Given the description of an element on the screen output the (x, y) to click on. 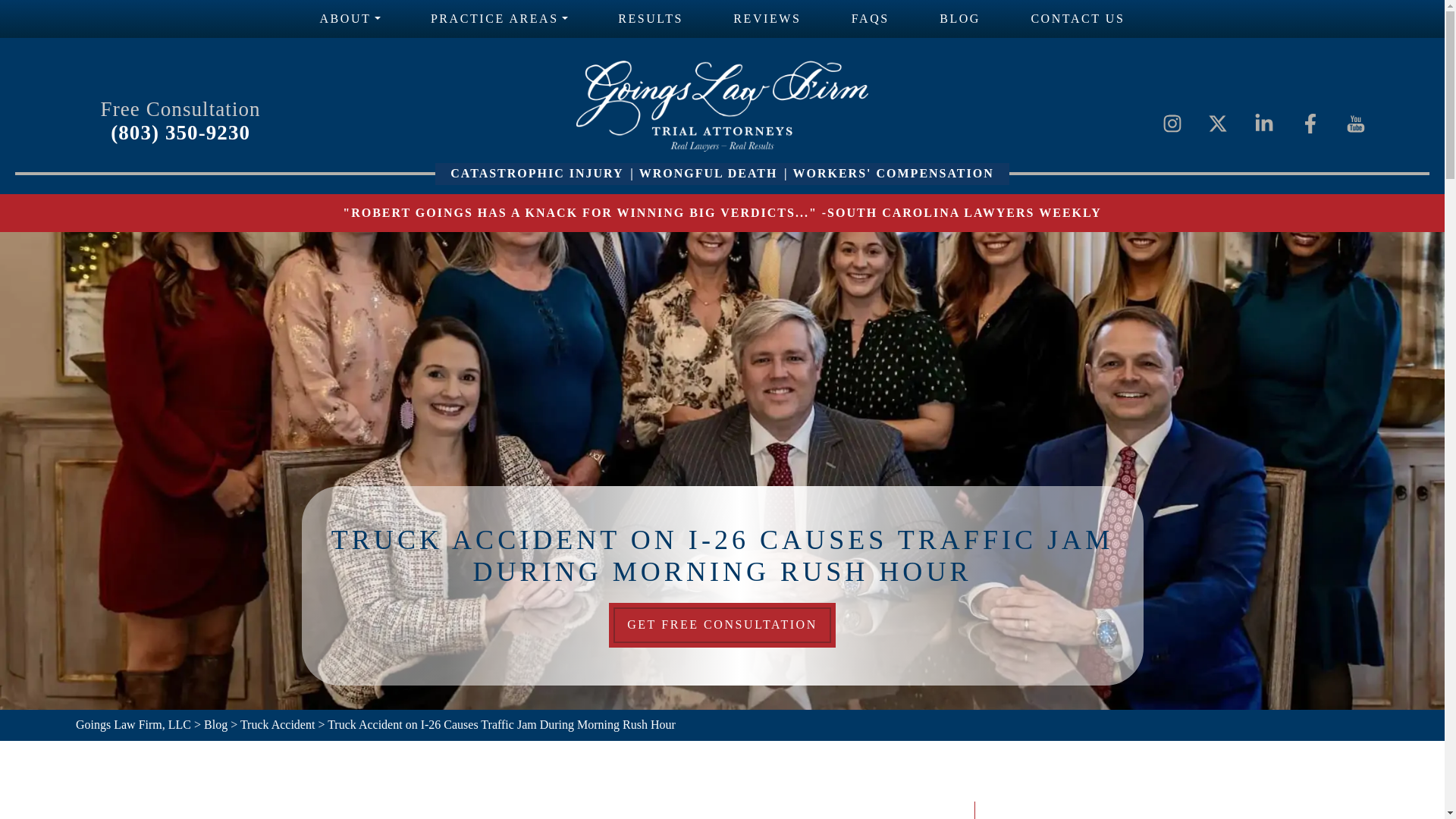
Practice Areas (499, 18)
REVIEWS (766, 18)
About (350, 18)
BLOG (960, 18)
CONTACT US (1078, 18)
ABOUT (350, 18)
PRACTICE AREAS (499, 18)
FAQS (870, 18)
RESULTS (649, 18)
